Given the description of an element on the screen output the (x, y) to click on. 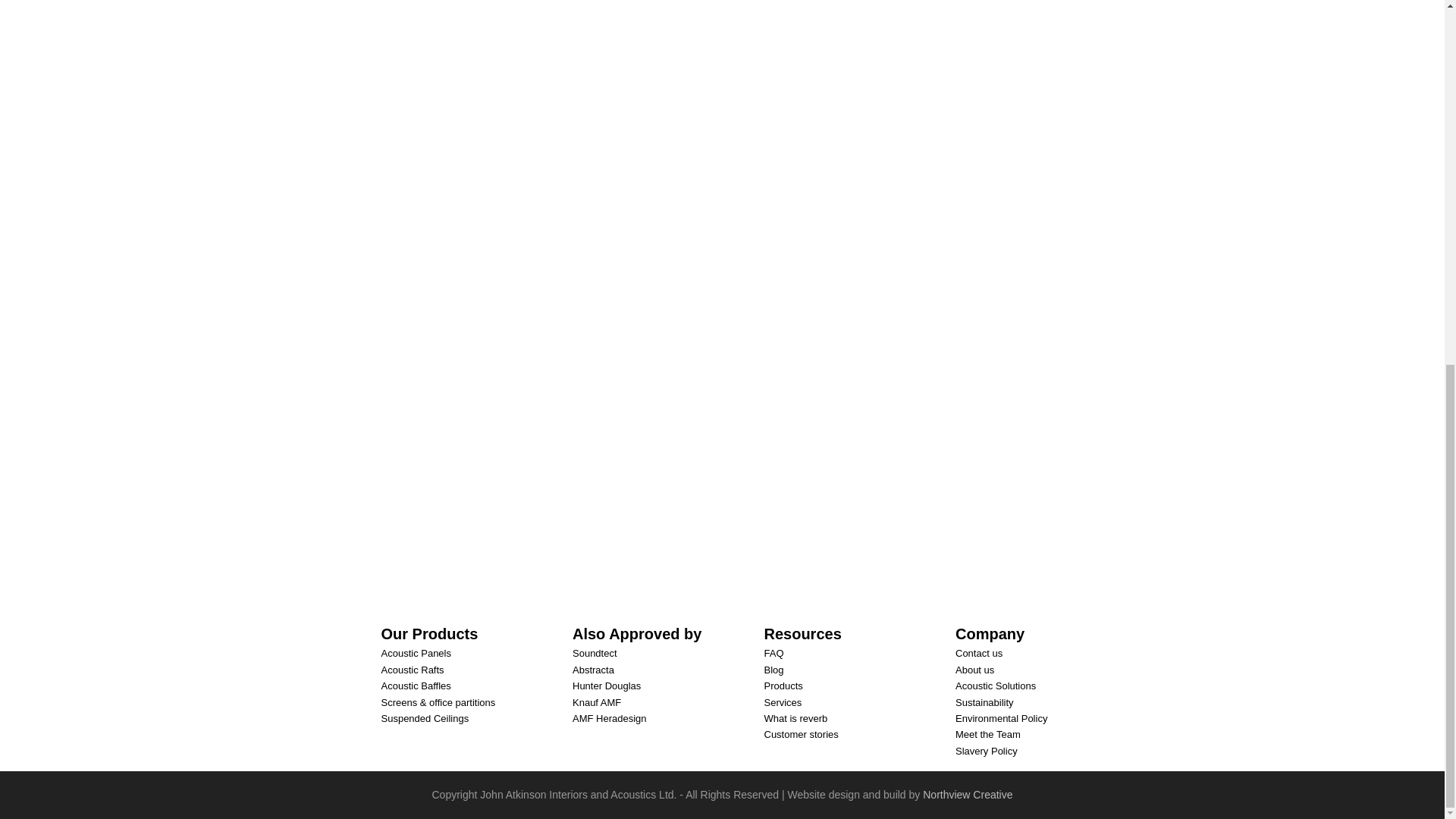
Acoustic Baffles (414, 685)
Suspended Ceilings (424, 718)
Soundtect (594, 652)
Acoustic Panels (415, 652)
Acoustic Rafts (412, 669)
